Given the description of an element on the screen output the (x, y) to click on. 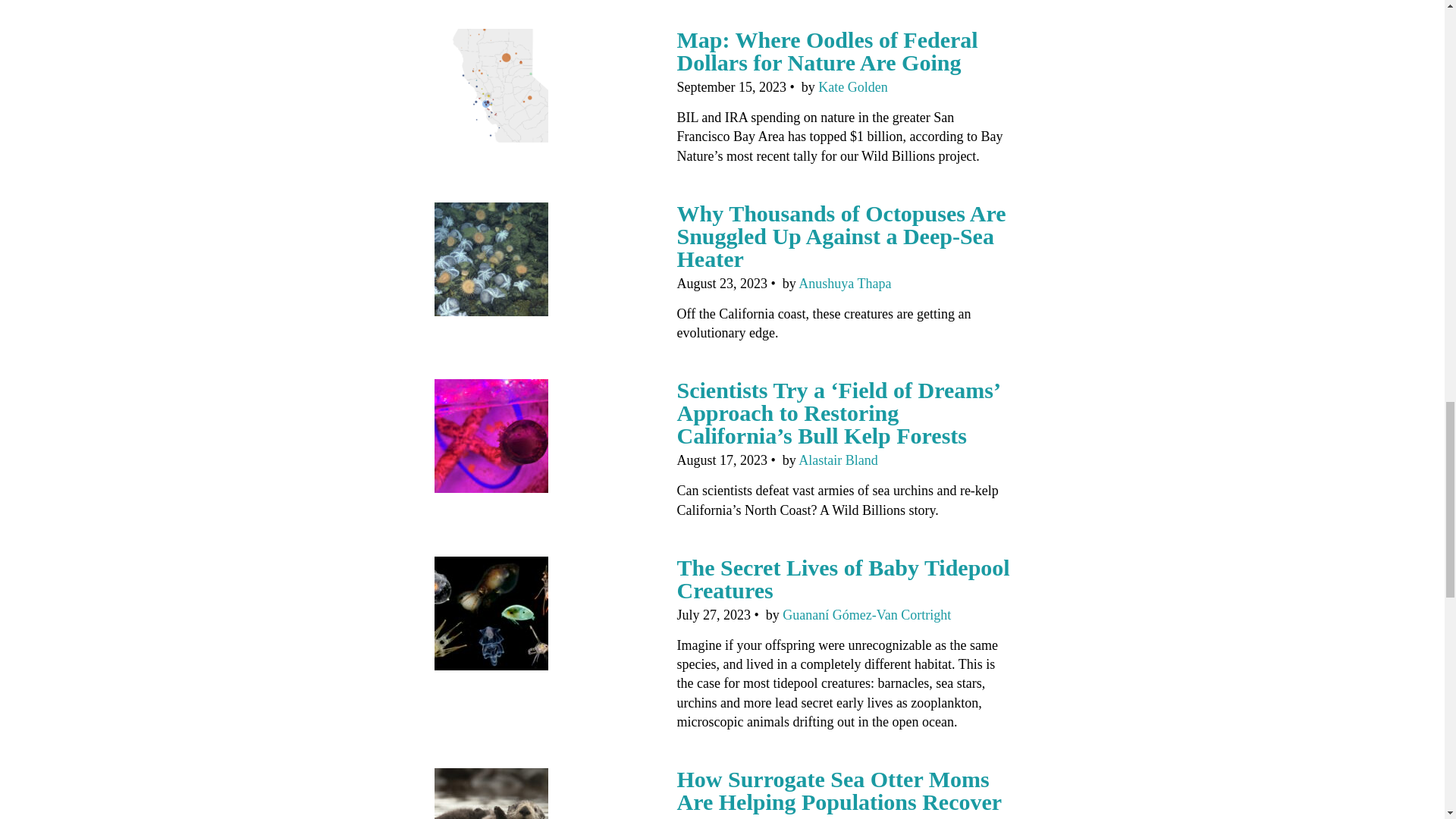
Posts by Anushuya Thapa (844, 283)
Posts by Alastair Bland (837, 459)
Posts by Kate Golden (852, 87)
